Given the description of an element on the screen output the (x, y) to click on. 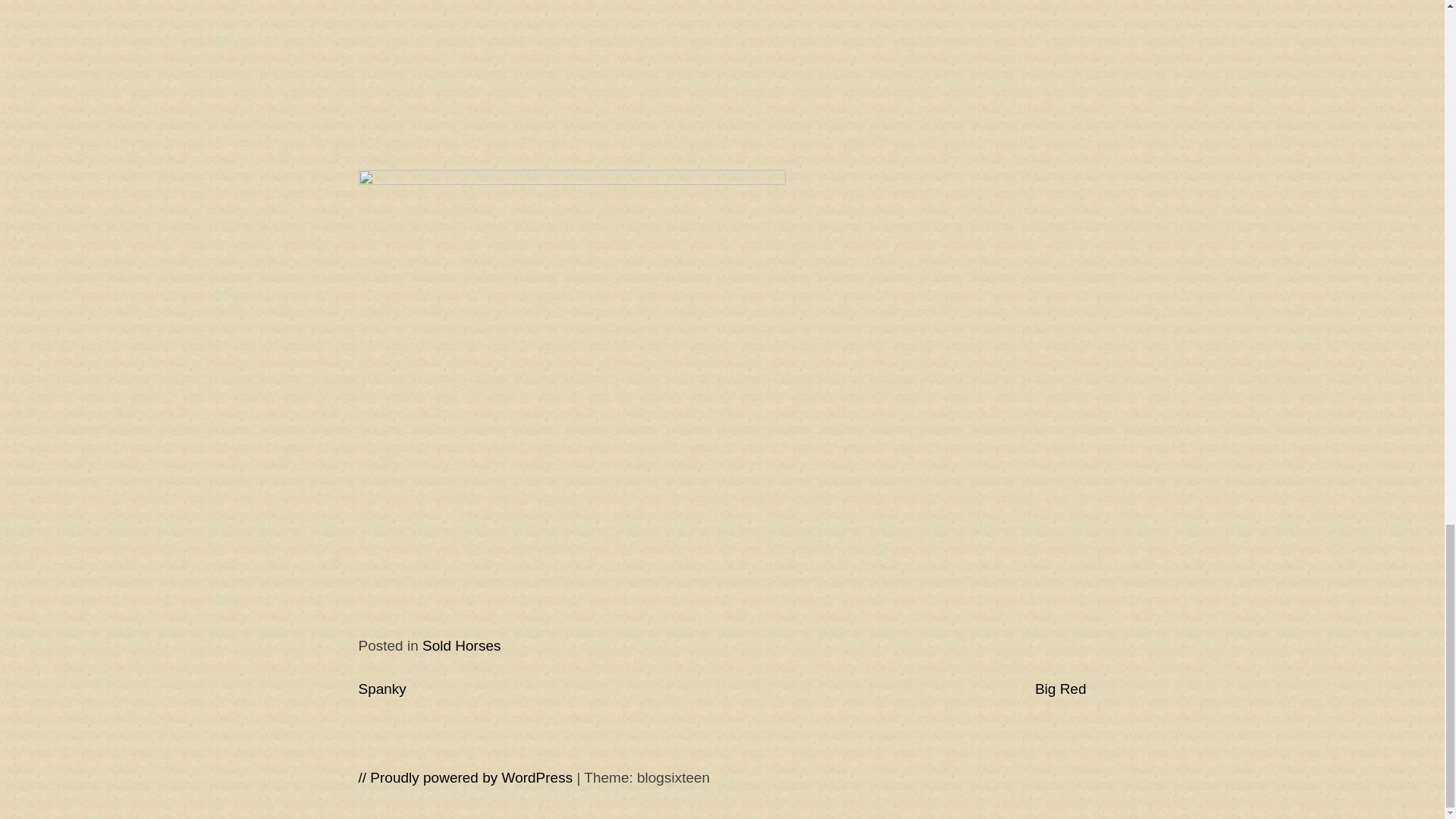
Big Red (1060, 688)
Sold Horses (461, 645)
Spanky (382, 688)
